Given the description of an element on the screen output the (x, y) to click on. 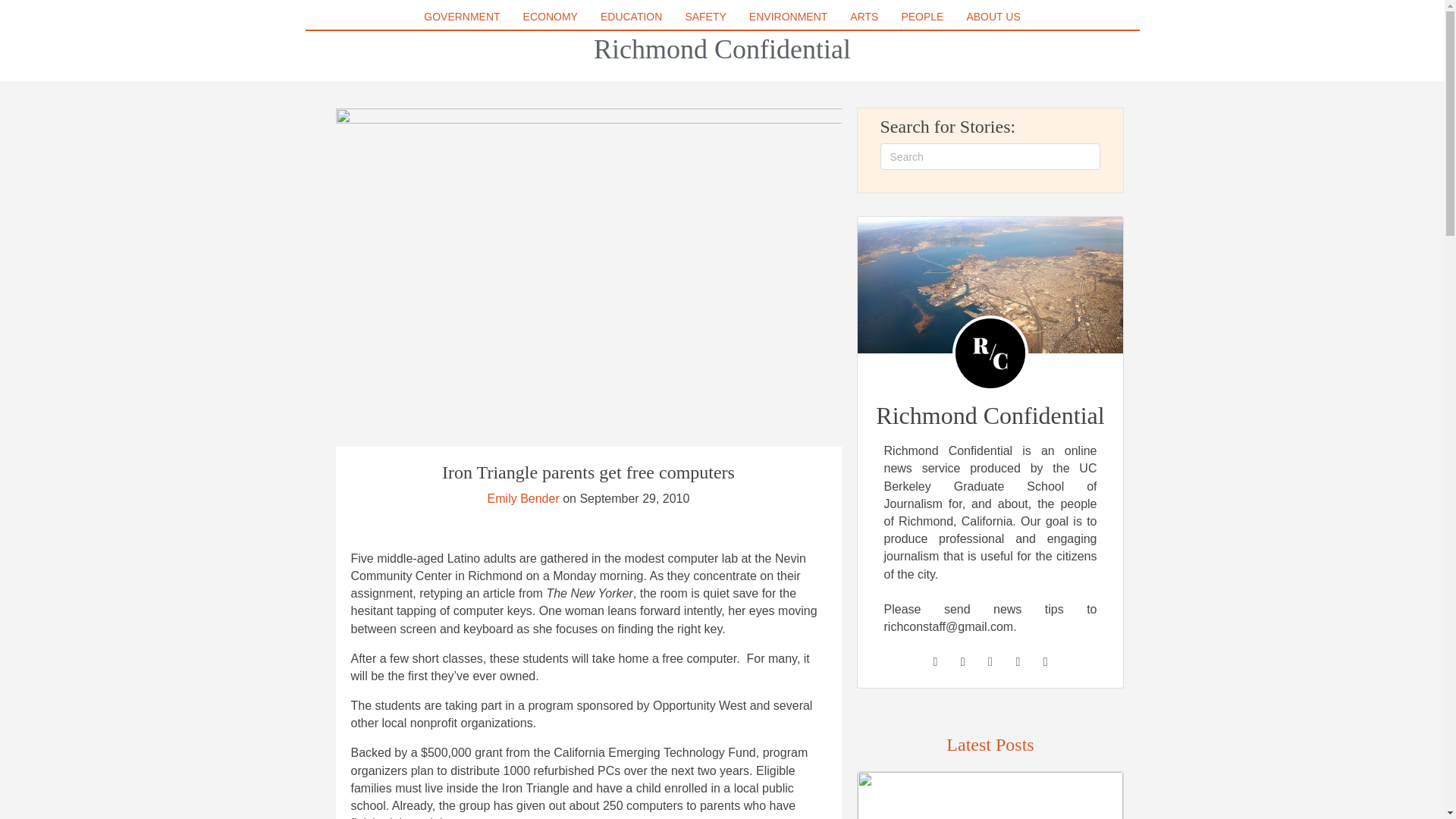
Type and press Enter to search. (990, 156)
ECONOMY (550, 16)
Richmond Confidential (722, 49)
Posts by Emily Bender (523, 498)
PEOPLE (921, 16)
Richmond Confidential (722, 49)
ABOUT US (992, 16)
SAFETY (705, 16)
ARTS (864, 16)
Emily Bender (523, 498)
